Given the description of an element on the screen output the (x, y) to click on. 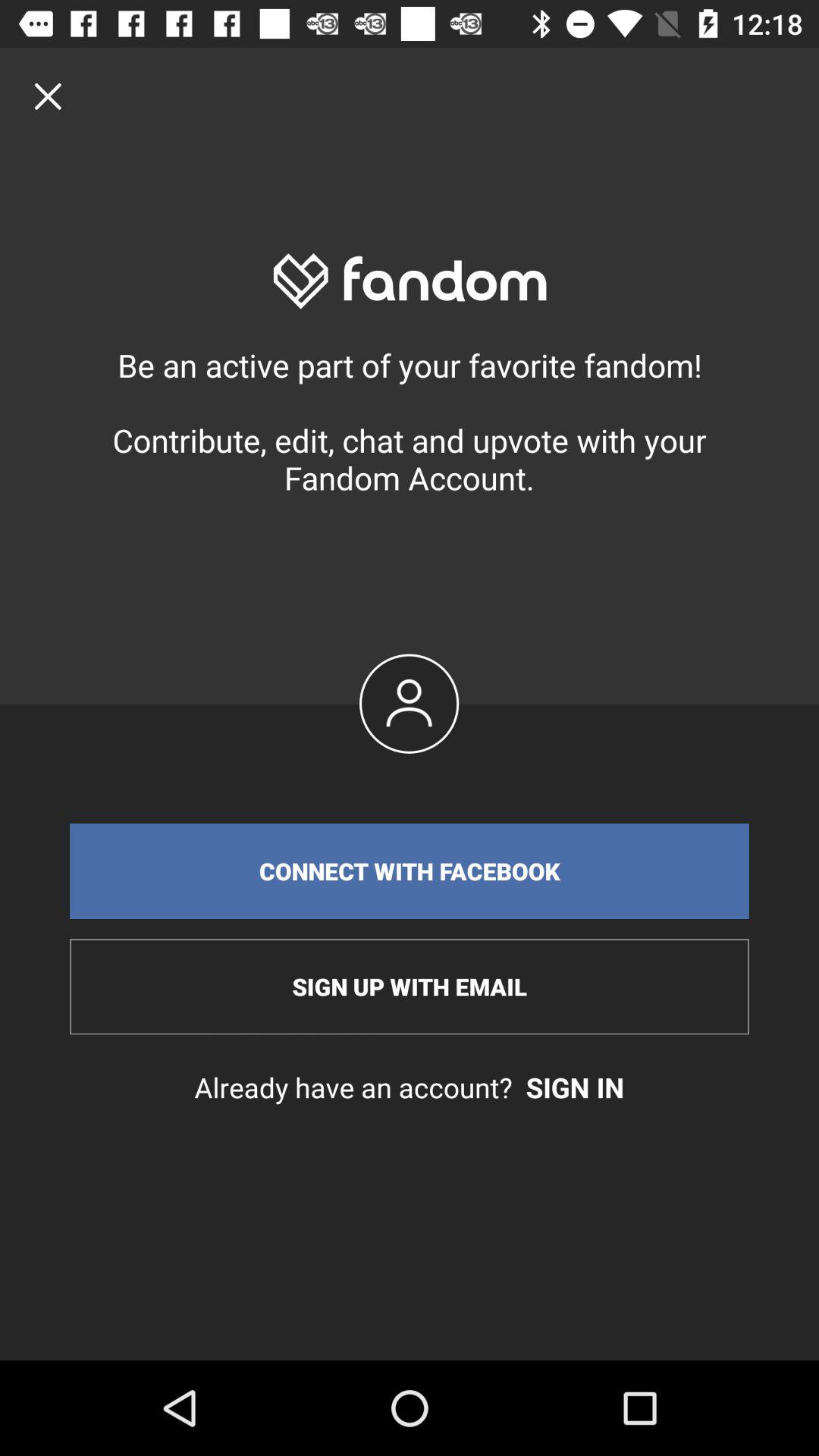
press already have an item (409, 1087)
